Given the description of an element on the screen output the (x, y) to click on. 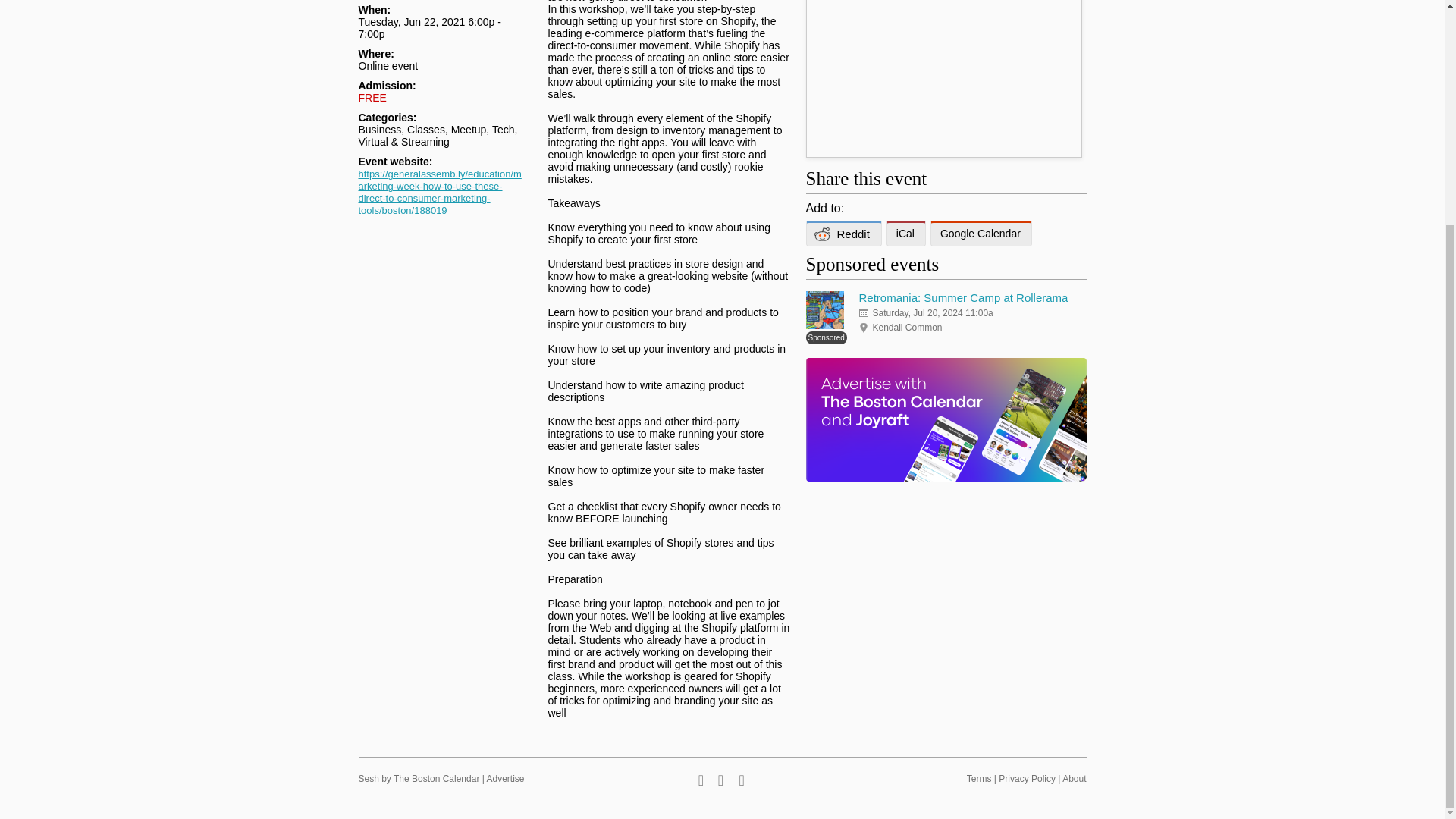
Retromania: Summer Camp at Rollerama (963, 297)
Advertise (505, 778)
Terms (978, 778)
About (1074, 778)
Sesh by The Boston Calendar (418, 778)
Reddit (842, 233)
Privacy Policy (1026, 778)
